Given the description of an element on the screen output the (x, y) to click on. 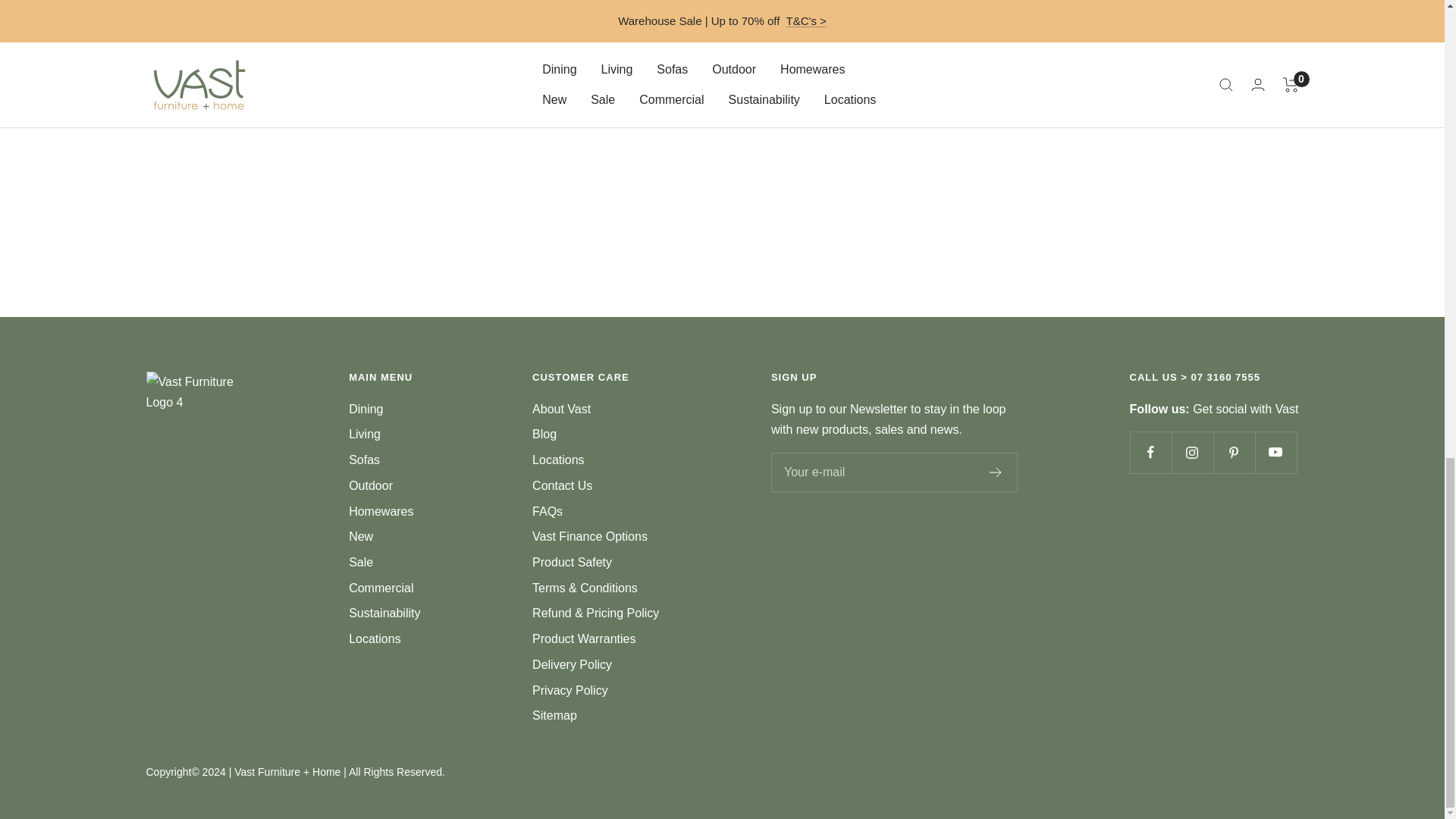
Register (996, 471)
